Given the description of an element on the screen output the (x, y) to click on. 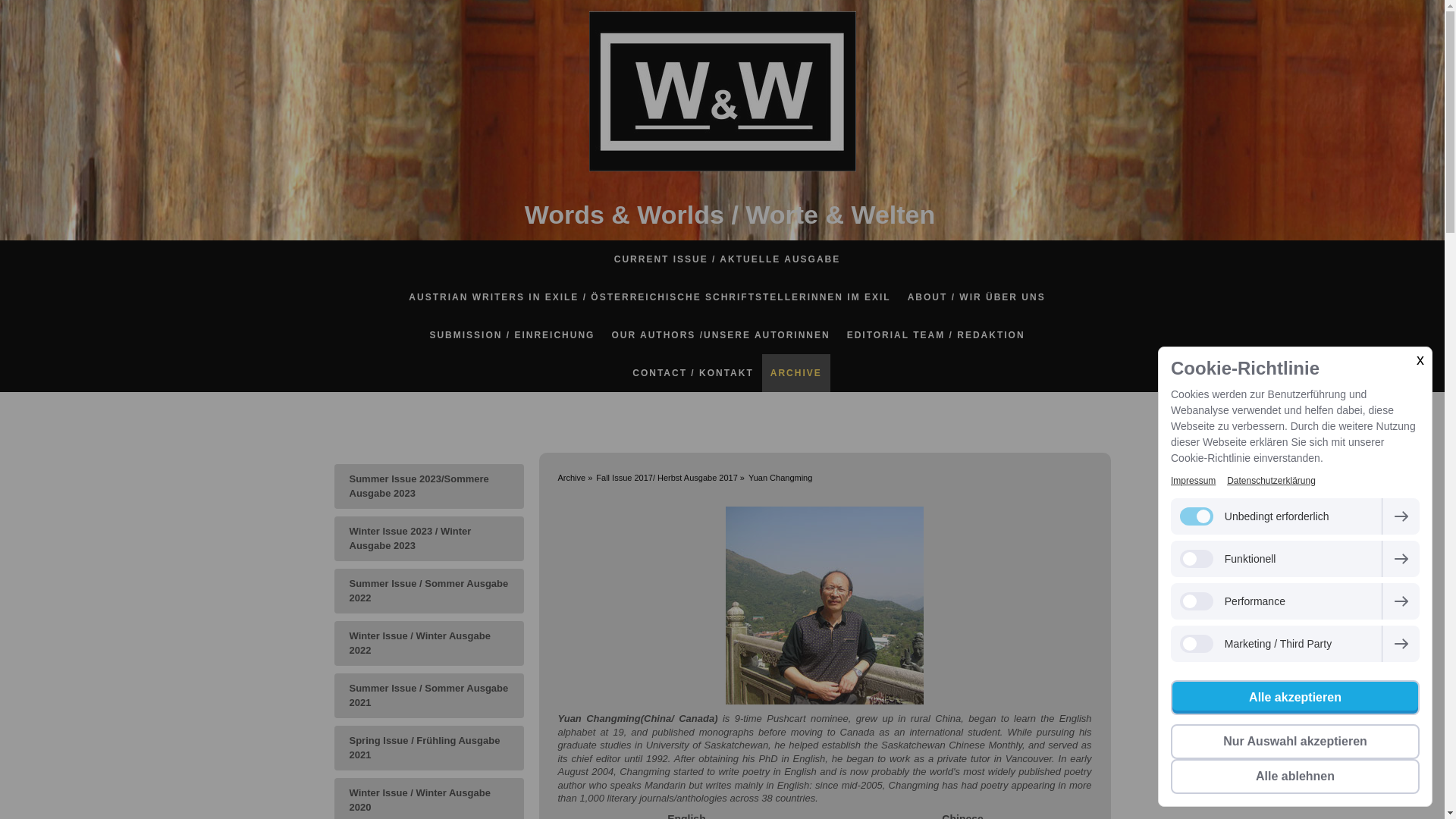
ARCHIVE (795, 372)
